Given the description of an element on the screen output the (x, y) to click on. 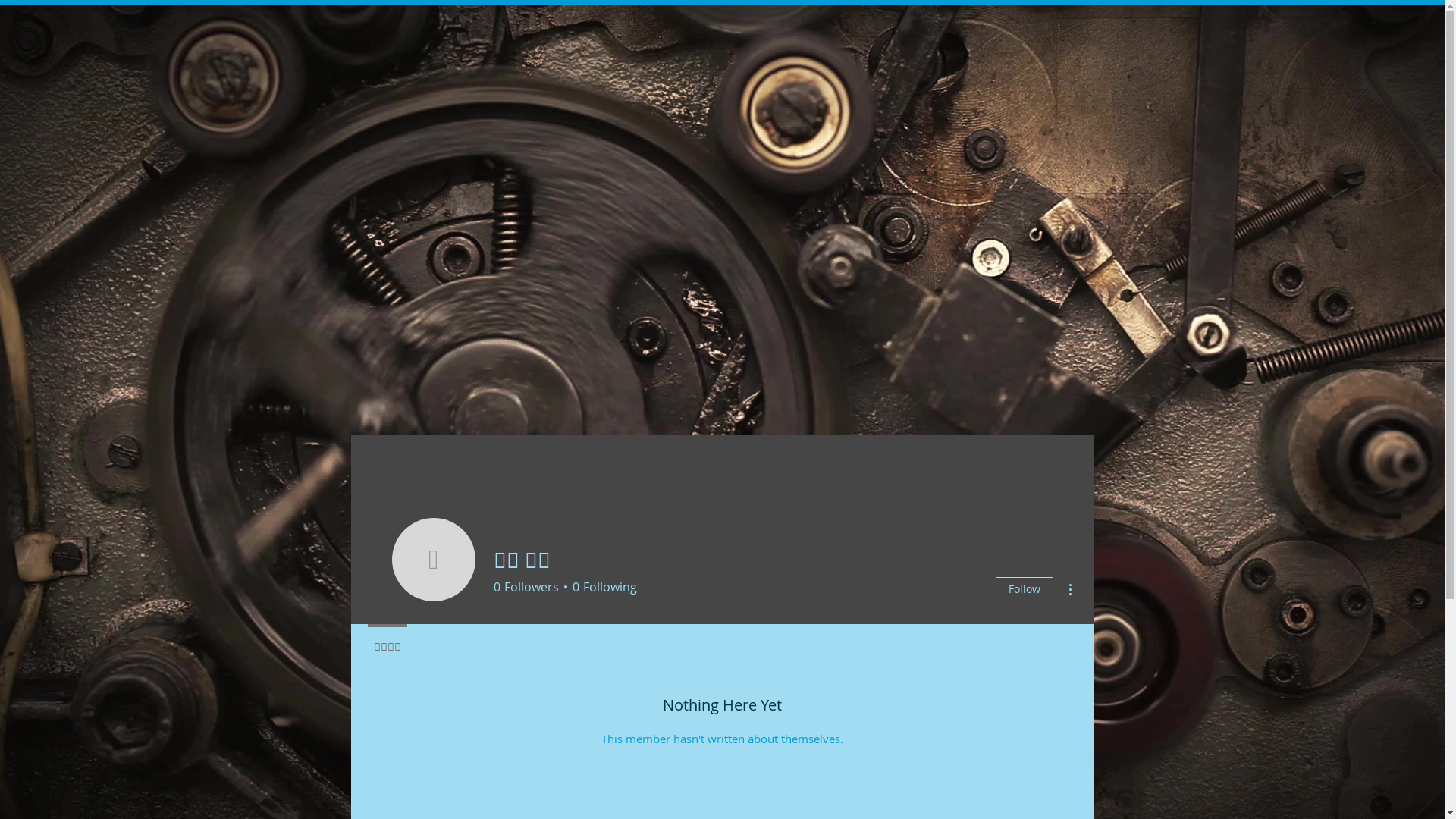
0
Followers Element type: text (525, 586)
Follow Element type: text (1023, 589)
0
Following Element type: text (602, 586)
